Given the description of an element on the screen output the (x, y) to click on. 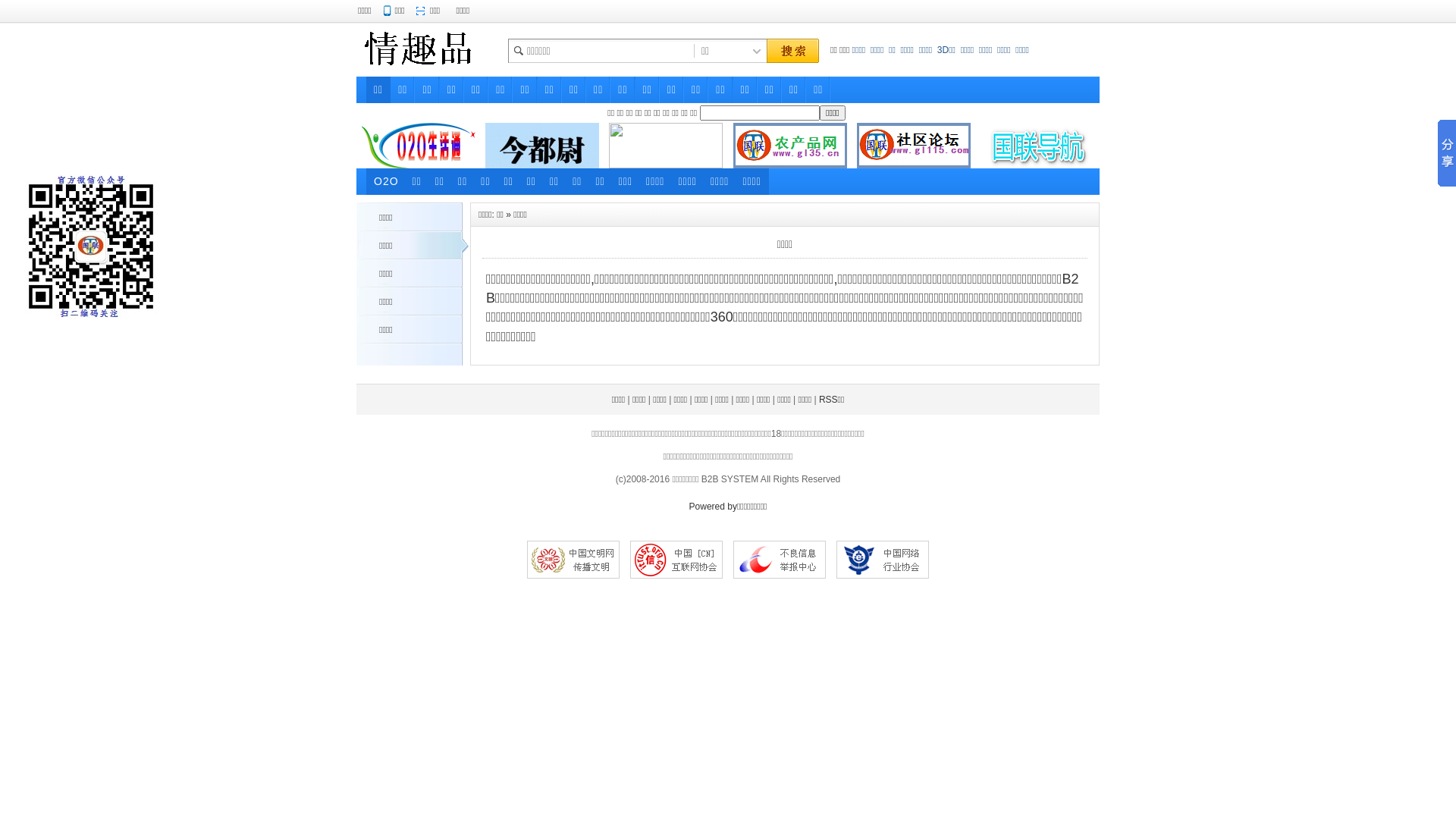
  Element type: text (792, 51)
O2O Element type: text (386, 181)
